Given the description of an element on the screen output the (x, y) to click on. 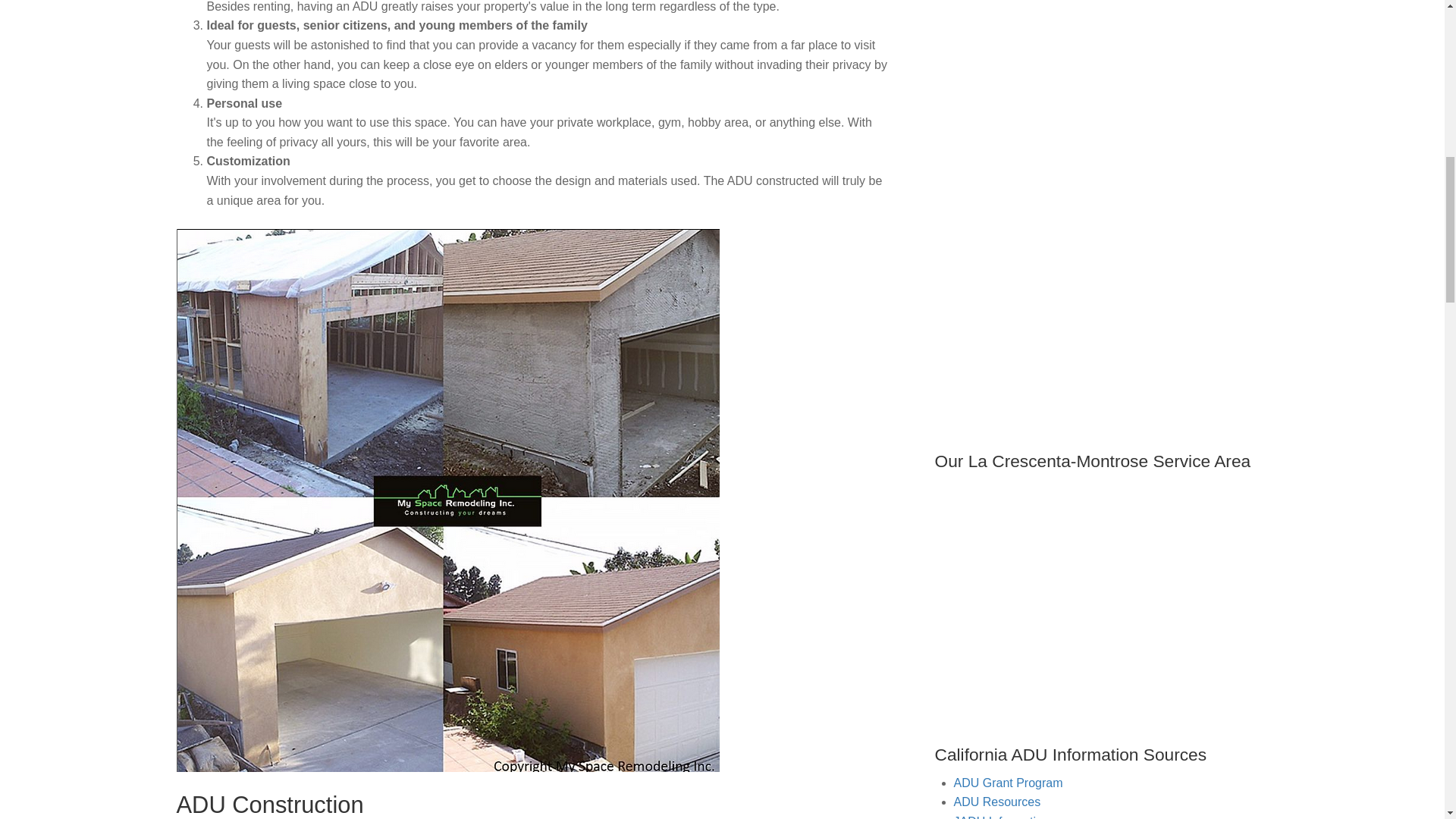
JADU Information (1001, 816)
ADU Grant Program (1007, 782)
ADU Resources (997, 801)
